Given the description of an element on the screen output the (x, y) to click on. 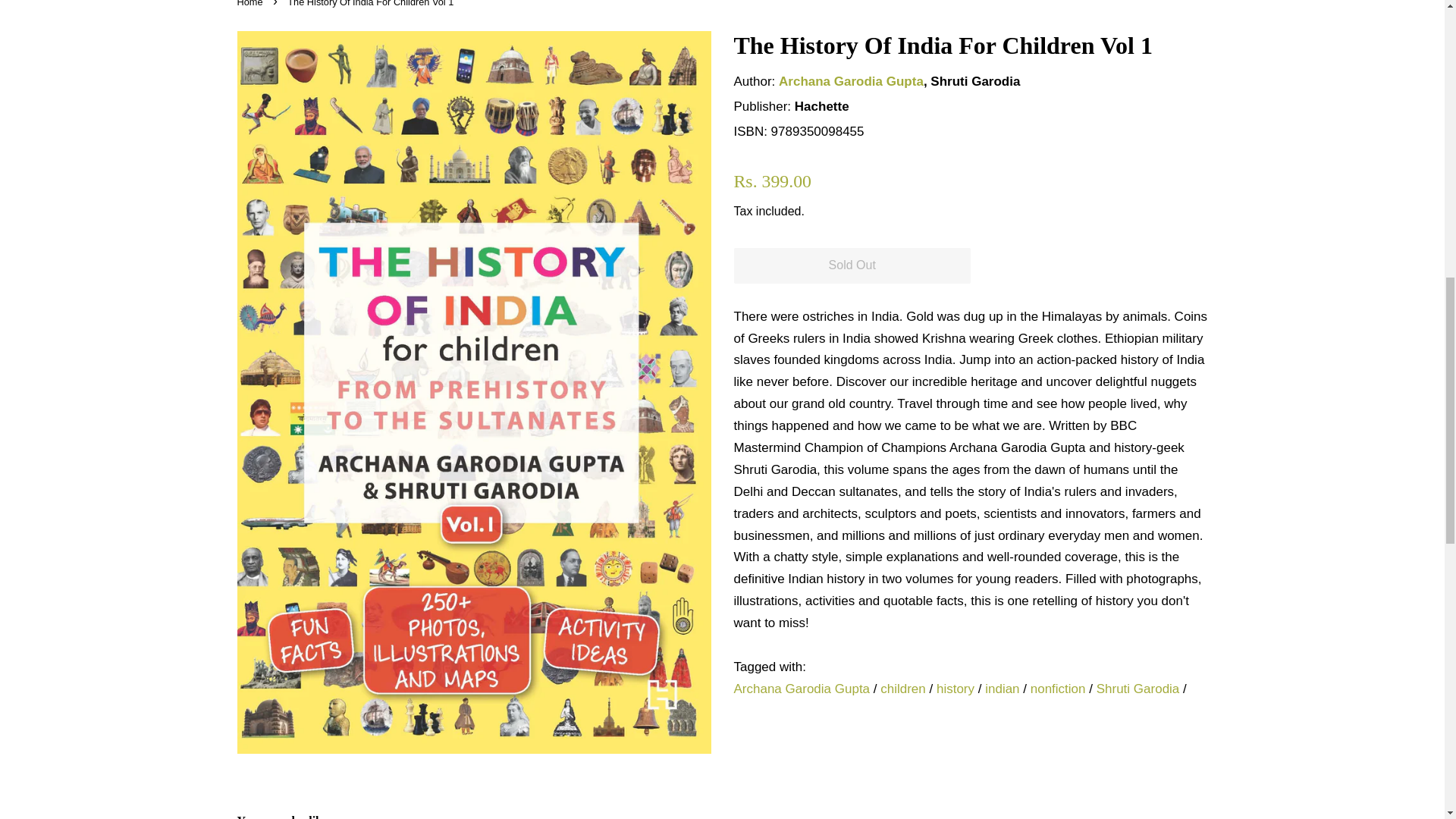
Back to the frontpage (250, 3)
